Given the description of an element on the screen output the (x, y) to click on. 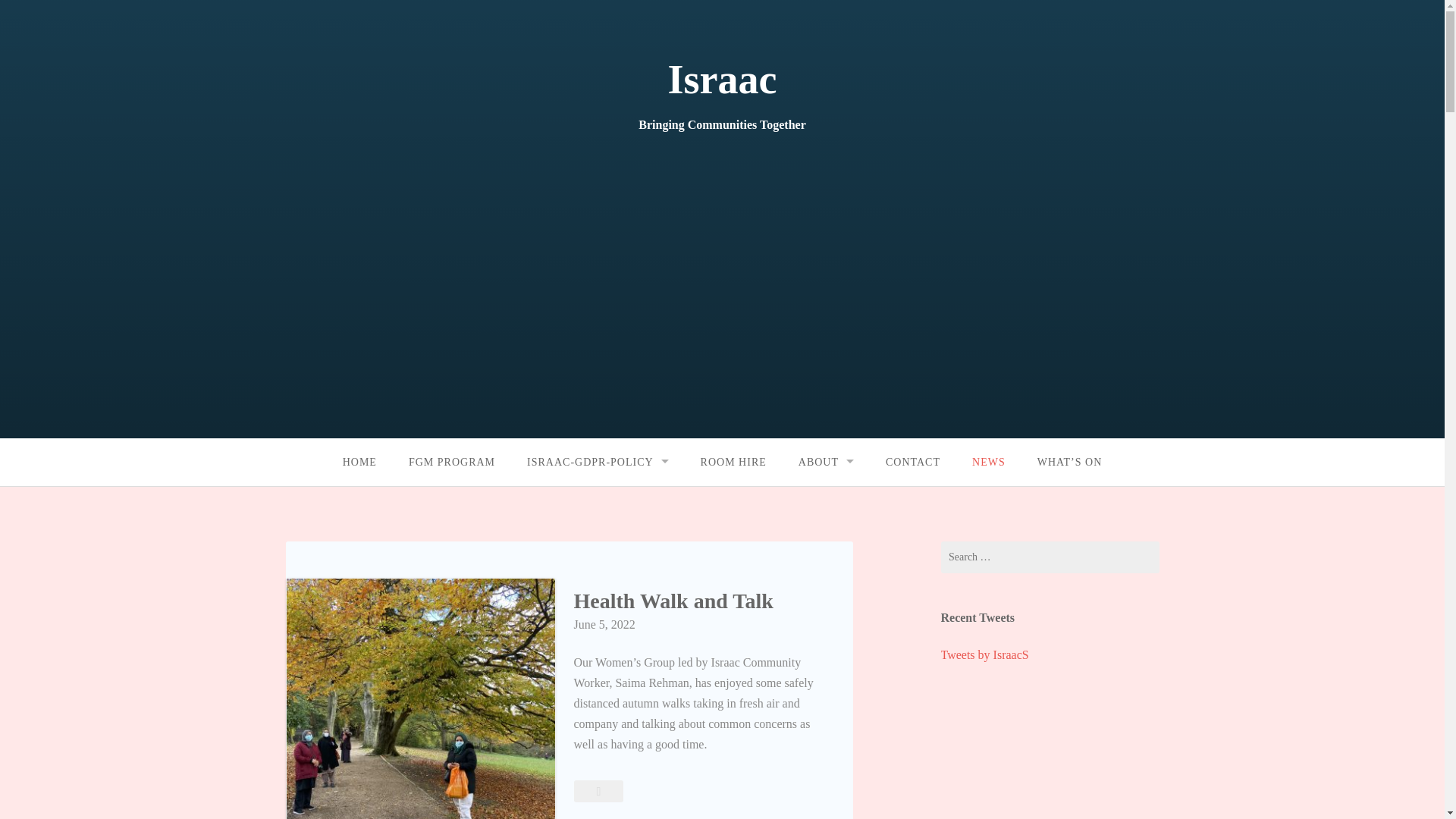
Health Walk and Talk (673, 599)
ISRAAC-GDPR-POLICY (597, 462)
CONTACT (912, 462)
FGM PROGRAM (452, 462)
NEWS (989, 462)
ROOM HIRE (733, 462)
ABOUT (826, 462)
Health Walk and Talk (598, 790)
Israac (722, 79)
HOME (359, 462)
